Given the description of an element on the screen output the (x, y) to click on. 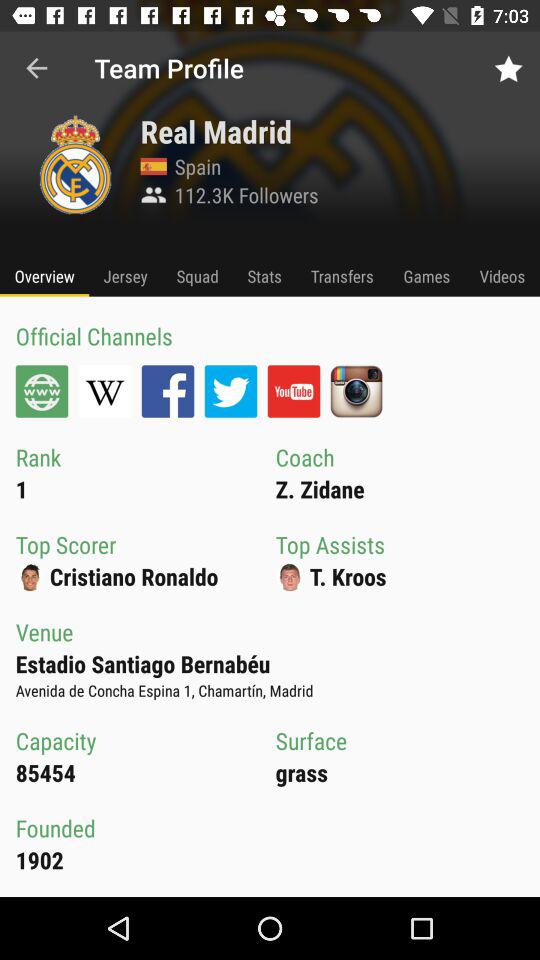
settings (41, 391)
